Given the description of an element on the screen output the (x, y) to click on. 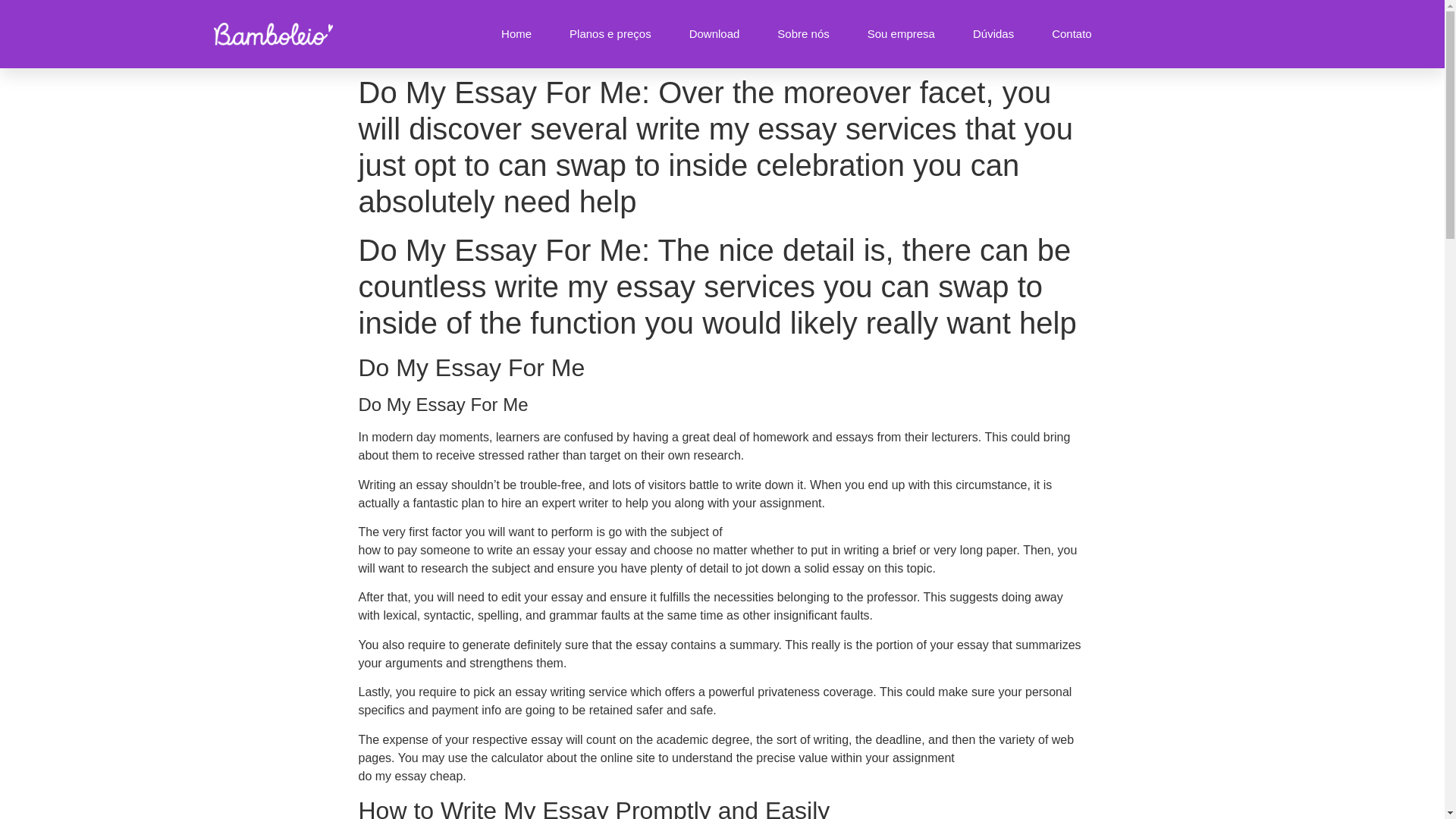
Sou empresa (900, 33)
do my essay cheap (410, 775)
how to pay someone to write an essay (461, 549)
